Given the description of an element on the screen output the (x, y) to click on. 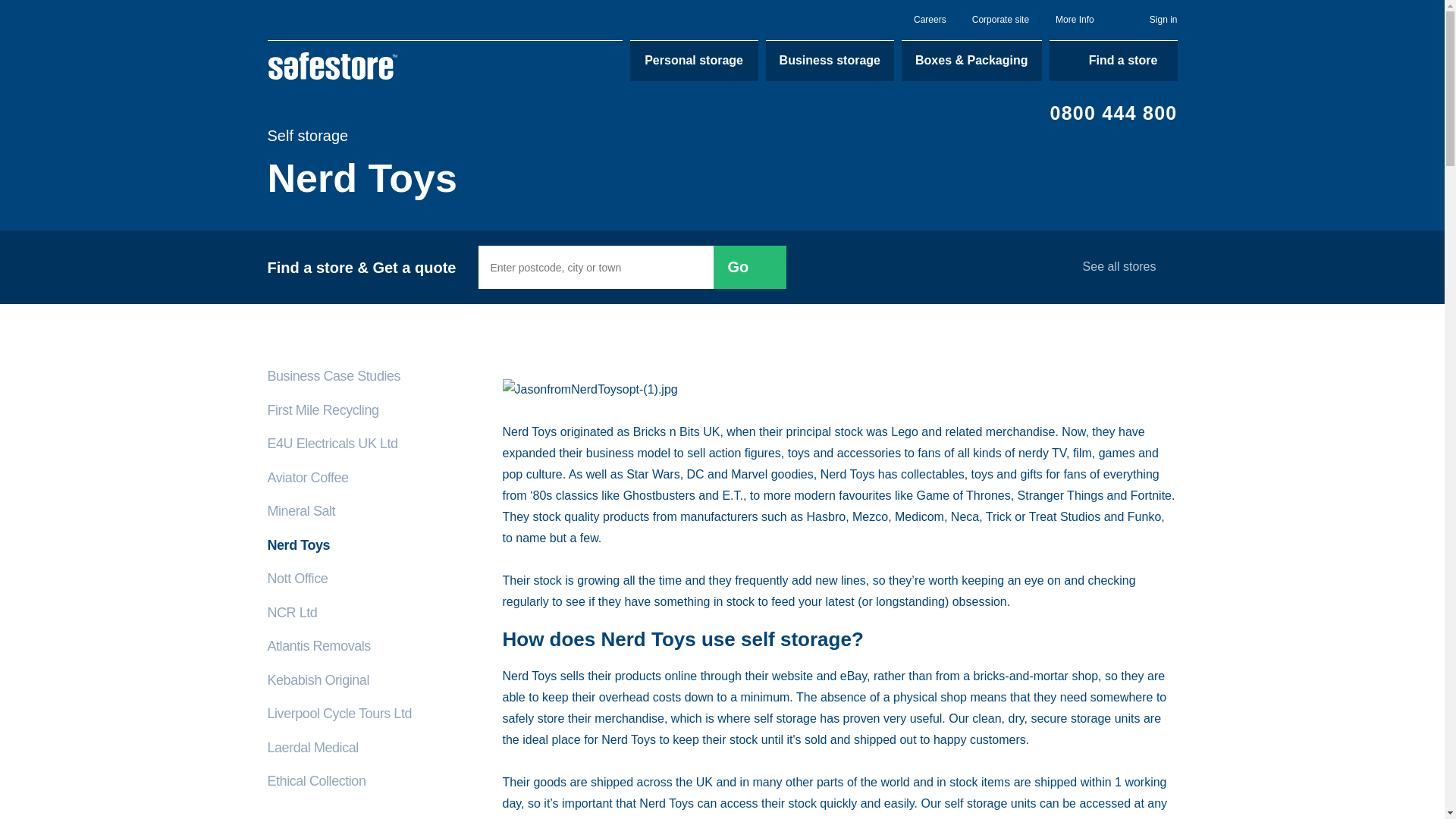
NCR Ltd (368, 618)
Business Case Studies (368, 381)
Aviator Coffee (368, 483)
Ethical Collection (368, 786)
Find a store (1113, 60)
Corporate site (1000, 19)
Laerdal Medical (368, 753)
More Info (1082, 19)
Sign in (1153, 19)
First Mile Recycling (368, 415)
